Given the description of an element on the screen output the (x, y) to click on. 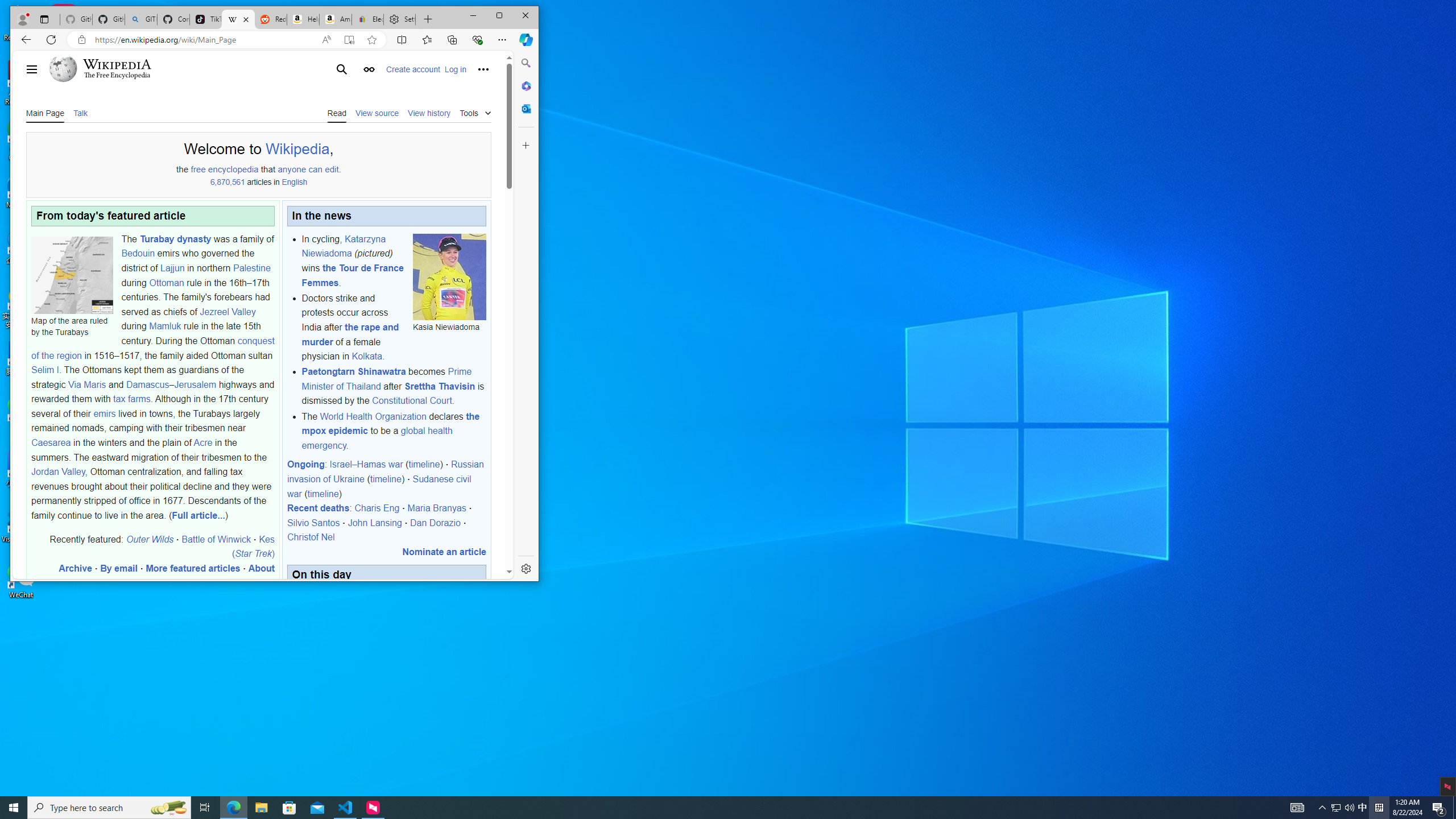
File Explorer (261, 807)
Damascus (146, 384)
Kes (Star Trek) (253, 546)
conquest of the region (152, 347)
Constitutional Court (411, 400)
Silvio Santos (313, 522)
Tools (476, 111)
TikTok (205, 19)
Prime Minister of Thailand (386, 378)
View source (376, 112)
